Given the description of an element on the screen output the (x, y) to click on. 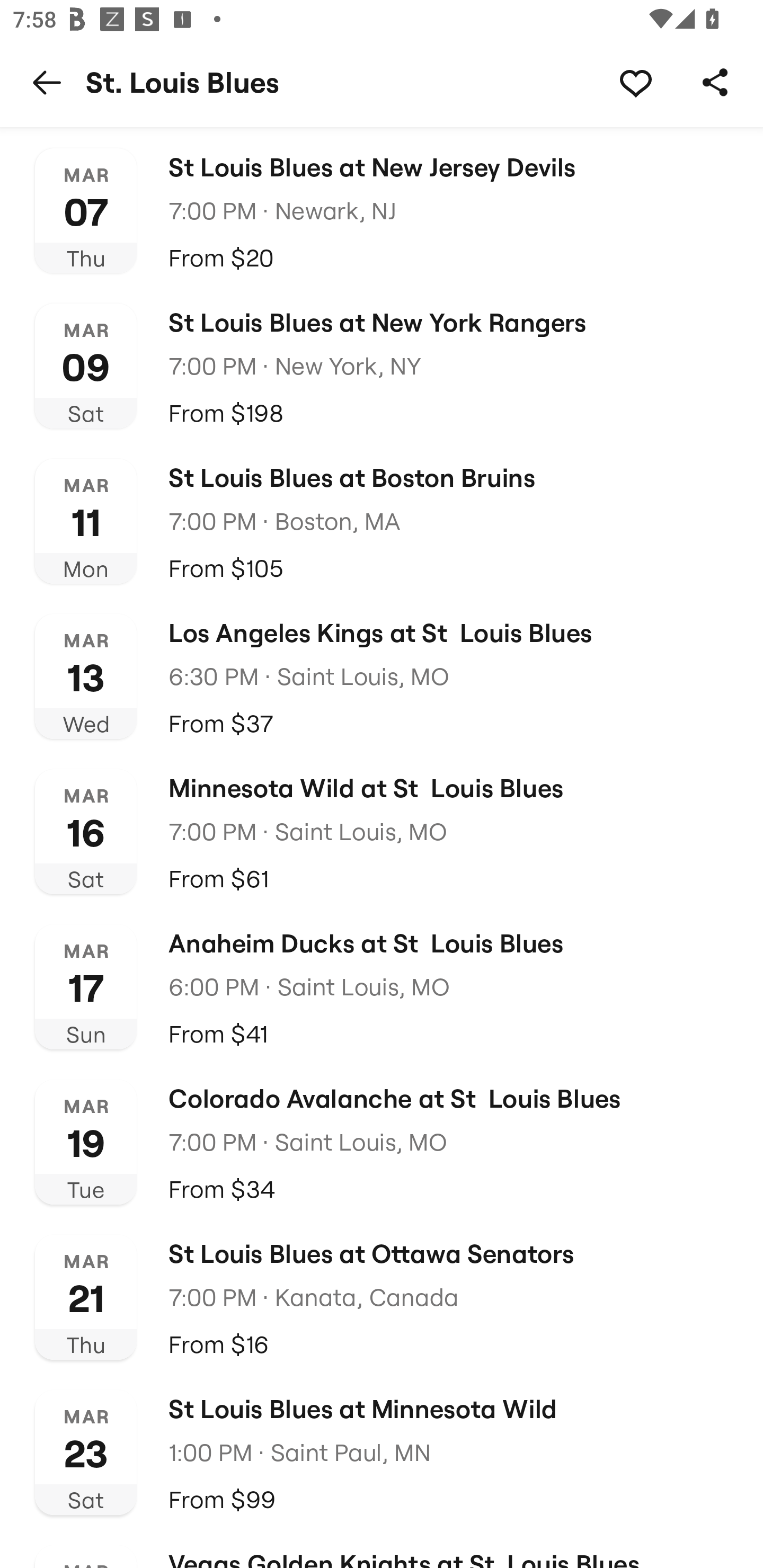
Back (47, 81)
Track this performer (635, 81)
Share this performer (715, 81)
